Given the description of an element on the screen output the (x, y) to click on. 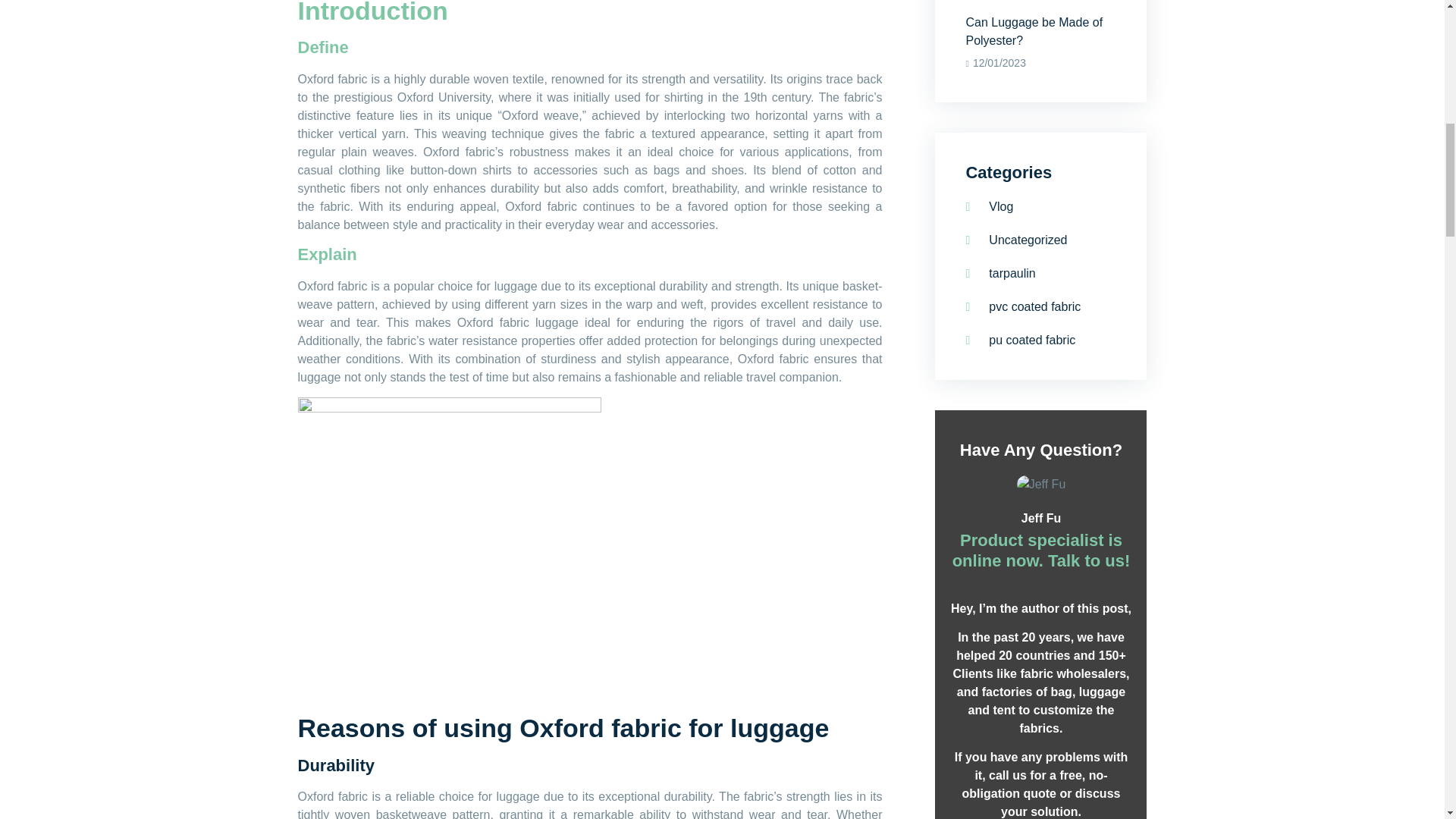
Categories (1040, 529)
Have Any Question? (1040, 172)
